Given the description of an element on the screen output the (x, y) to click on. 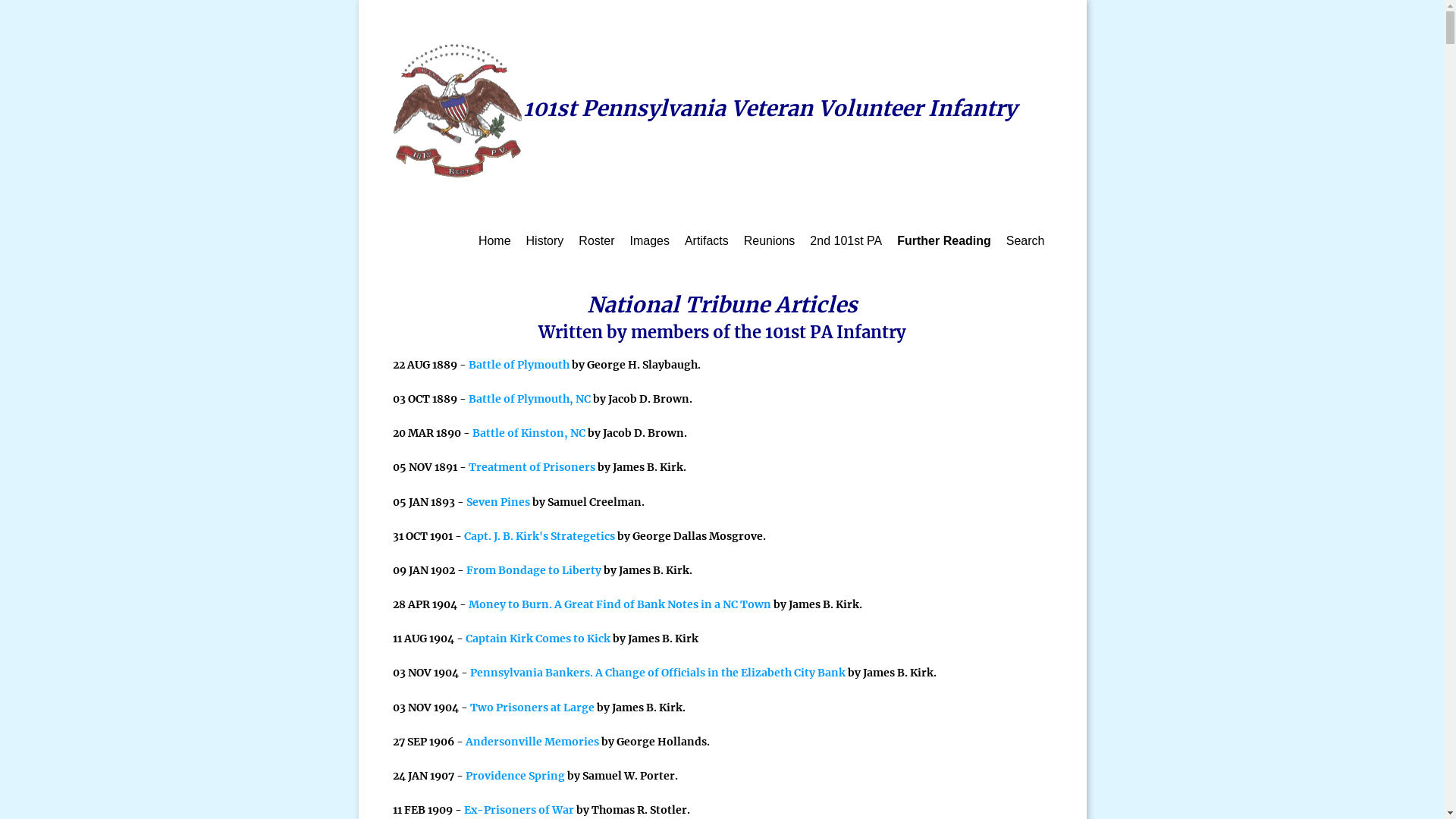
Further Reading Element type: text (943, 240)
Ex-Prisoners of War Element type: text (519, 809)
Search Element type: text (1025, 240)
History Element type: text (544, 240)
Providence Spring Element type: text (514, 775)
Battle of Kinston, NC Element type: text (527, 432)
Captain Kirk Comes to Kick Element type: text (537, 638)
Battle of Plymouth Element type: text (518, 364)
Battle of Plymouth, NC Element type: text (529, 398)
Seven Pines Element type: text (497, 501)
101st Pennsylvania Veteran Volunteer Infantry Element type: text (704, 108)
Two Prisoners at Large Element type: text (532, 707)
Reunions Element type: text (769, 240)
Money to Burn. A Great Find of Bank Notes in a NC Town Element type: text (619, 604)
Treatment of Prisoners Element type: text (531, 466)
Home Element type: text (494, 240)
2nd 101st PA Element type: text (845, 240)
Capt. J. B. Kirk's Strategetics Element type: text (539, 535)
Images Element type: text (648, 240)
From Bondage to Liberty Element type: text (532, 570)
Artifacts Element type: text (706, 240)
Andersonville Memories Element type: text (532, 741)
Roster Element type: text (596, 240)
